Given the description of an element on the screen output the (x, y) to click on. 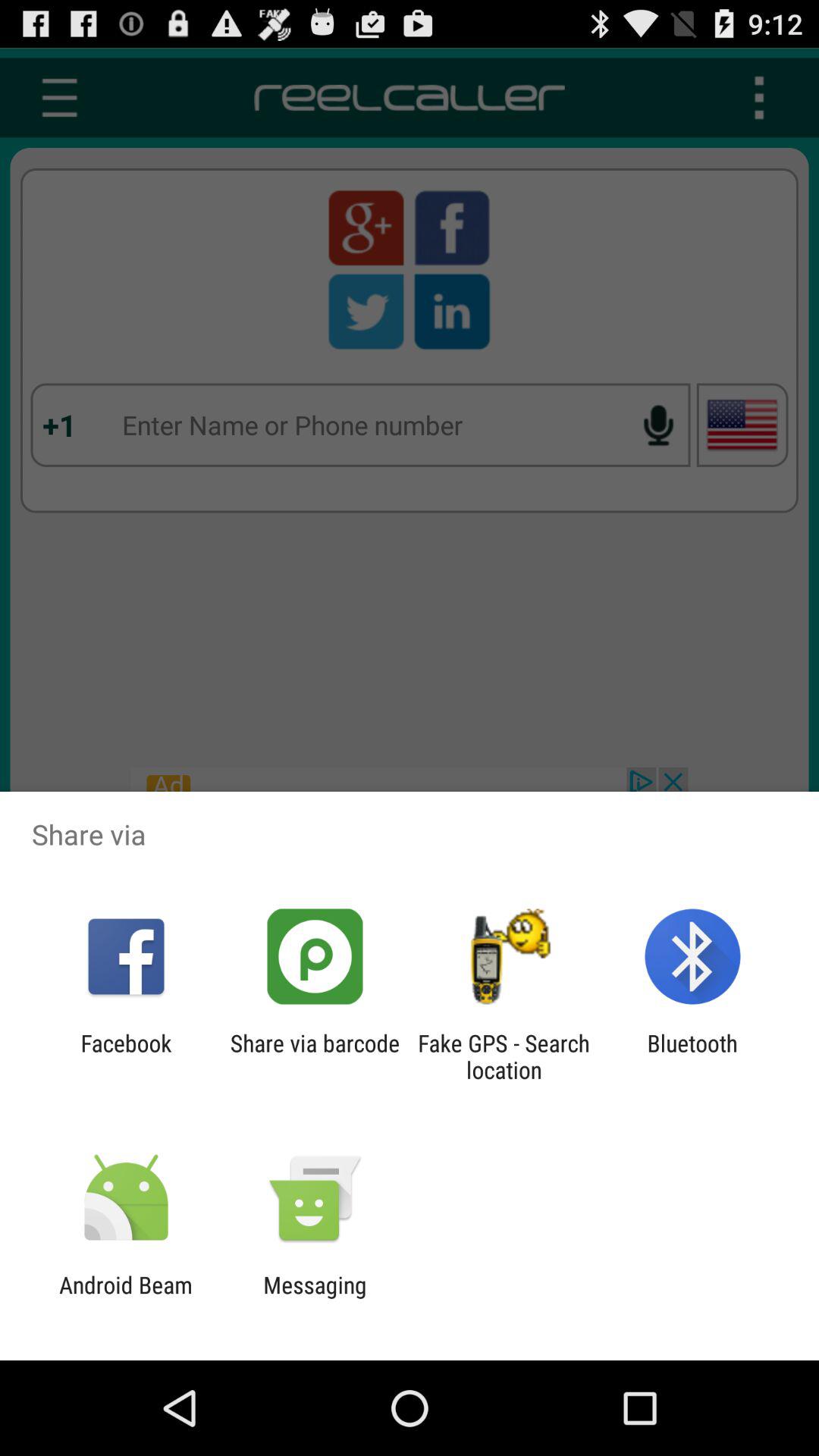
select the icon to the left of bluetooth item (503, 1056)
